Given the description of an element on the screen output the (x, y) to click on. 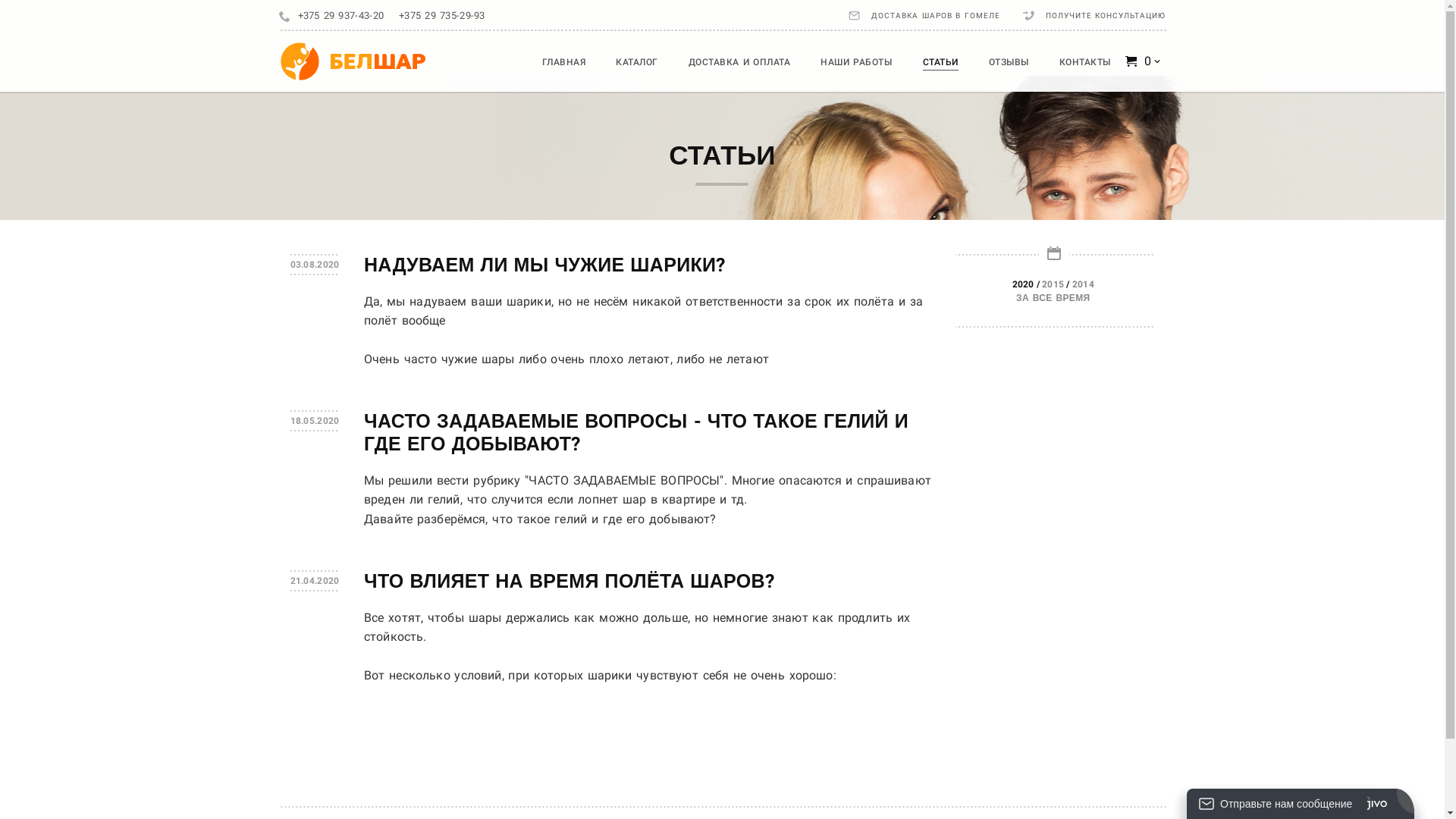
+375 29 735-29-93 Element type: text (441, 15)
2015 Element type: text (1052, 284)
0 Element type: text (1144, 61)
+375 29 937-43-20 Element type: text (340, 15)
2014 Element type: text (1083, 284)
